Given the description of an element on the screen output the (x, y) to click on. 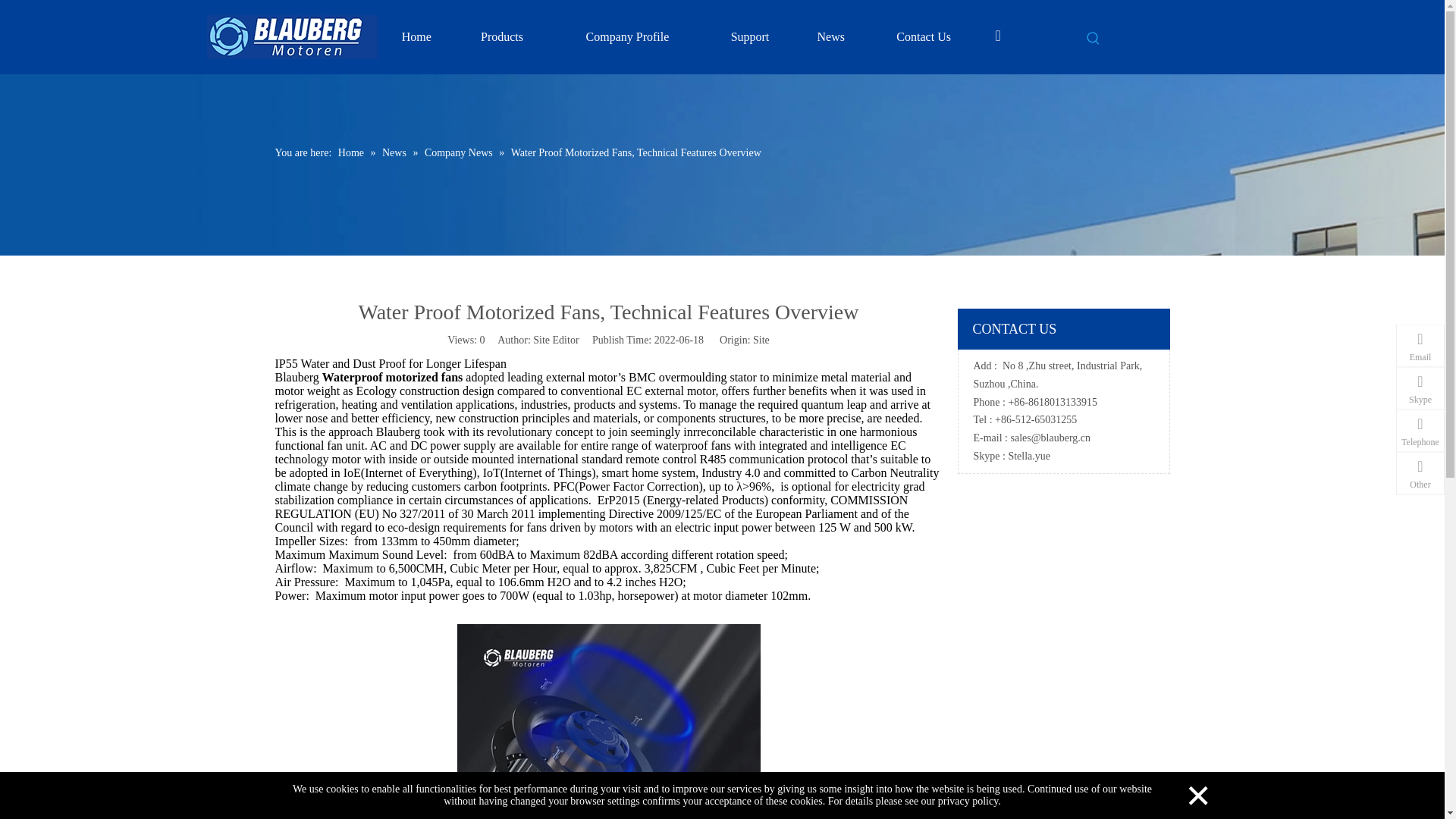
Products (501, 36)
Support (749, 36)
Company Profile (627, 36)
Water Proof Motorized Fans (608, 721)
Contact Us (923, 36)
News (831, 36)
logo (291, 36)
Home (416, 36)
